Given the description of an element on the screen output the (x, y) to click on. 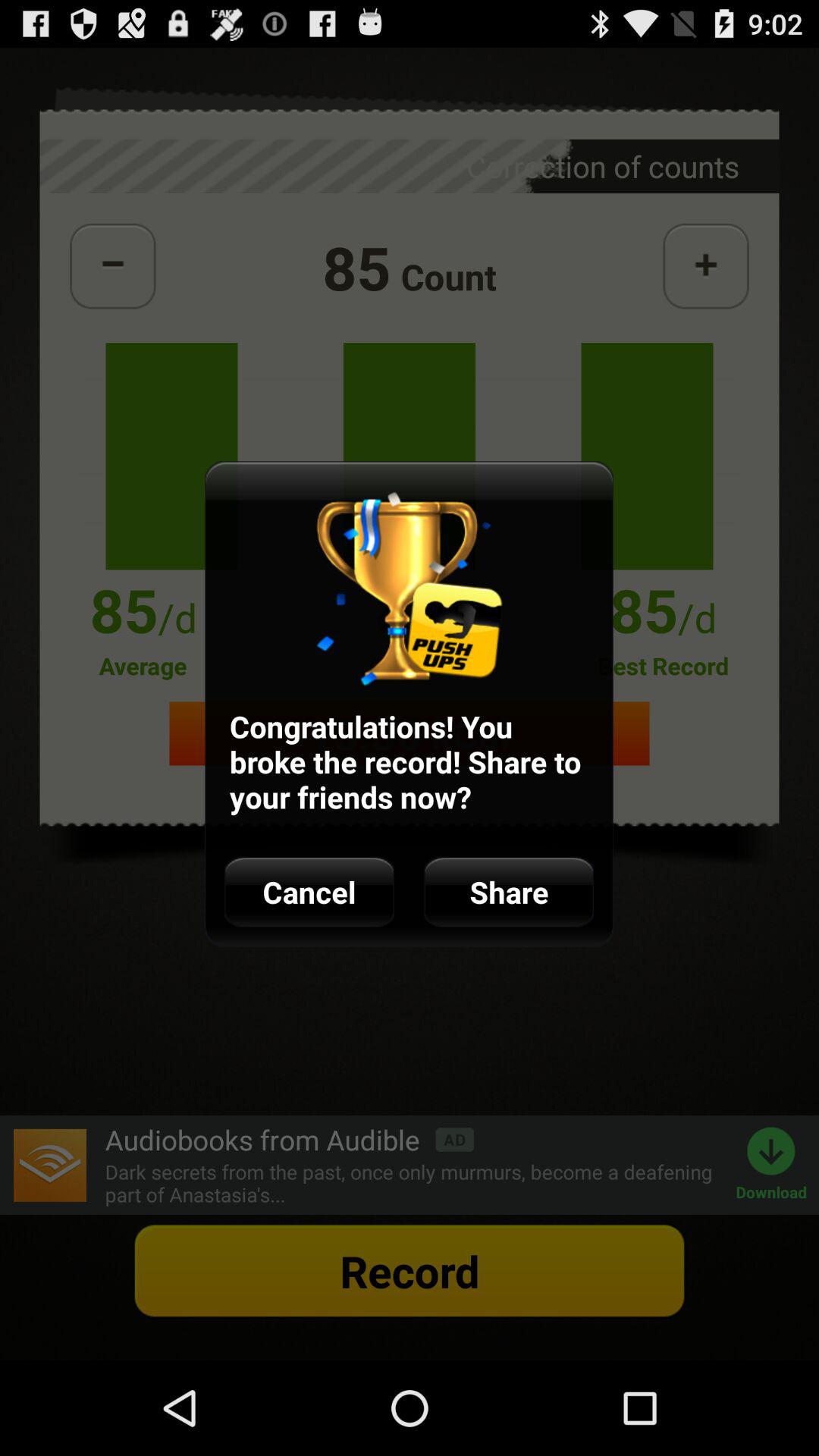
tap the item to the left of the share icon (309, 892)
